Given the description of an element on the screen output the (x, y) to click on. 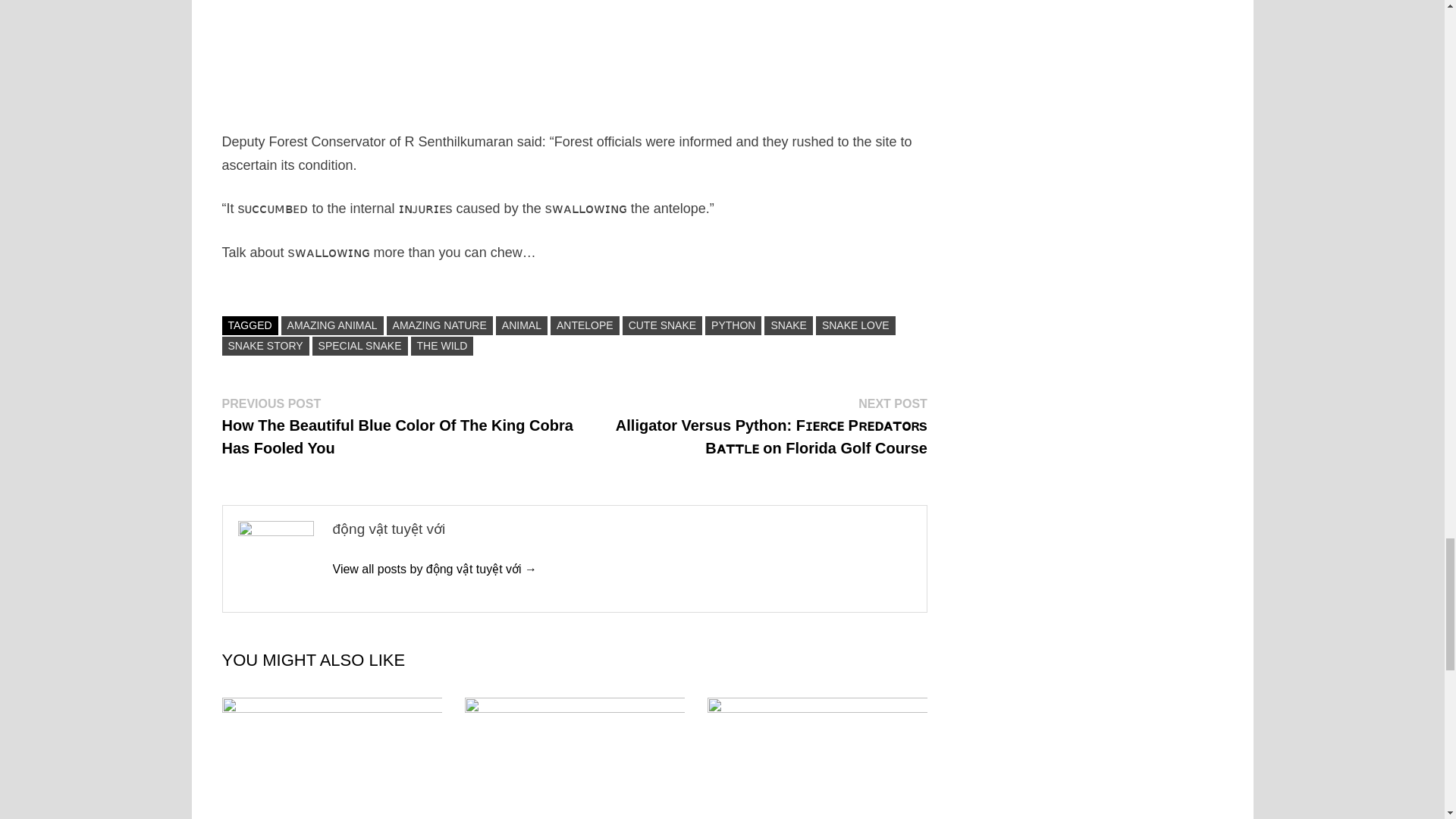
ANTELOPE (585, 325)
SNAKE STORY (264, 345)
CUTE SNAKE (662, 325)
AMAZING ANIMAL (332, 325)
PYTHON (732, 325)
THE WILD (442, 345)
AMAZING NATURE (440, 325)
ANIMAL (521, 325)
SPECIAL SNAKE (360, 345)
SNAKE LOVE (855, 325)
SNAKE (788, 325)
